Given the description of an element on the screen output the (x, y) to click on. 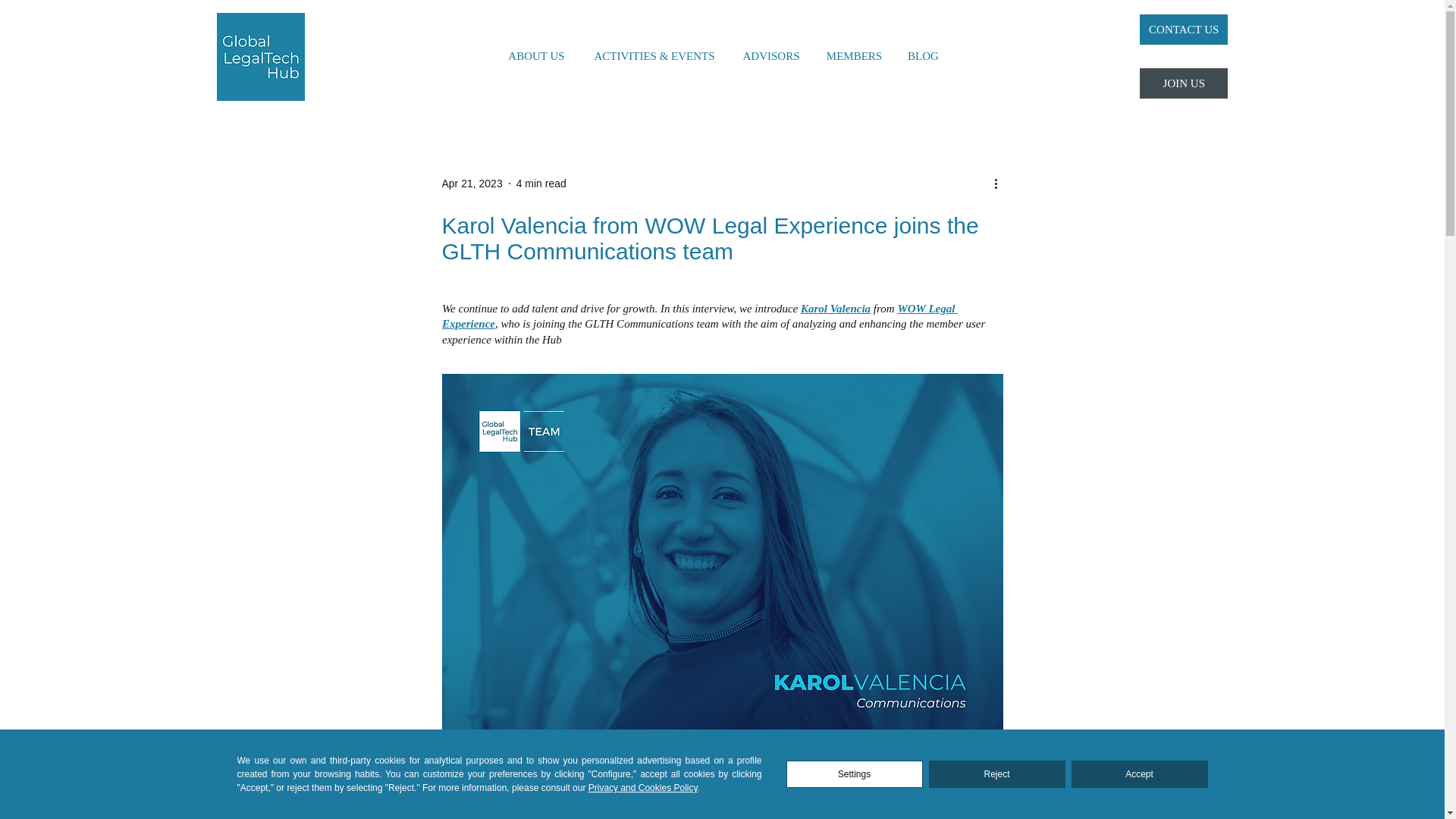
ABOUT US (536, 56)
CONTACT US (1183, 29)
Apr 21, 2023 (471, 183)
WOW Legal Experience (698, 316)
MEMBERS (853, 56)
JOIN US (1183, 82)
4 min read (541, 183)
Karol Valencia (835, 307)
BLOG (922, 56)
ADVISORS (770, 56)
